Given the description of an element on the screen output the (x, y) to click on. 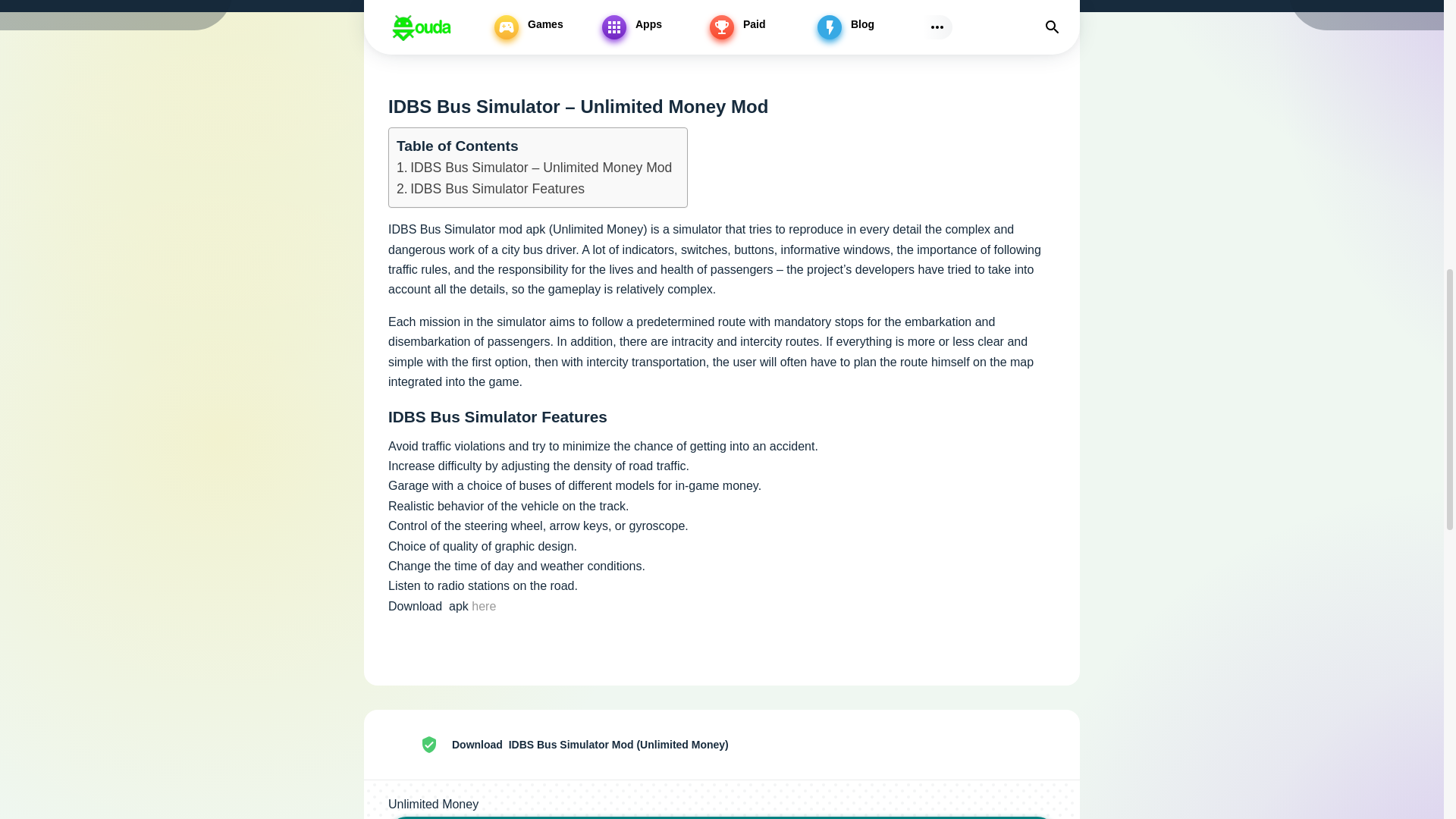
idbs-bus-simulator.png (405, 744)
IDBS Bus Simulator Features (490, 188)
